Given the description of an element on the screen output the (x, y) to click on. 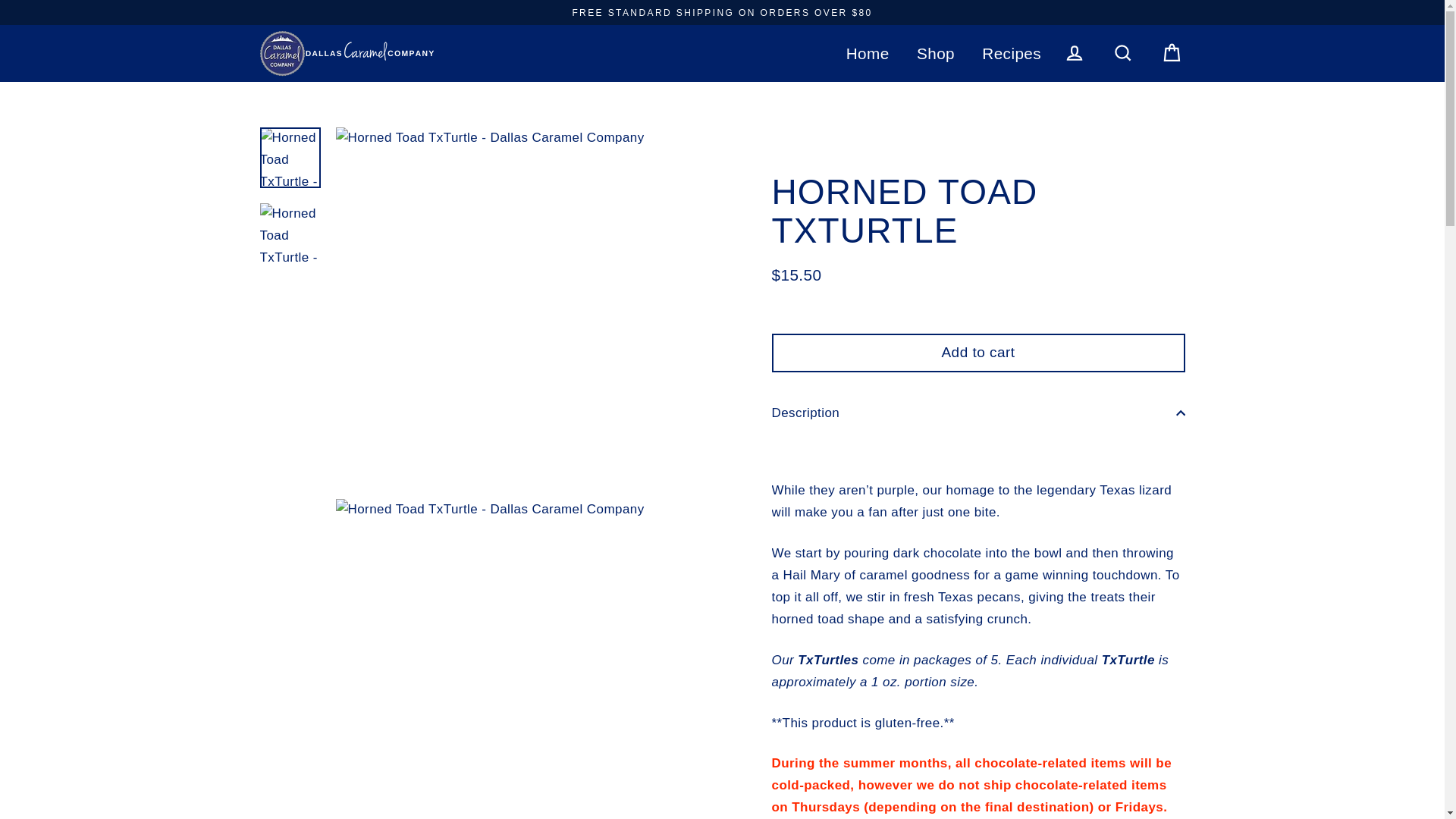
Search (1122, 52)
Home (867, 53)
Shop (935, 53)
Log in (1074, 52)
Recipes (1011, 53)
Cart (1171, 52)
